Given the description of an element on the screen output the (x, y) to click on. 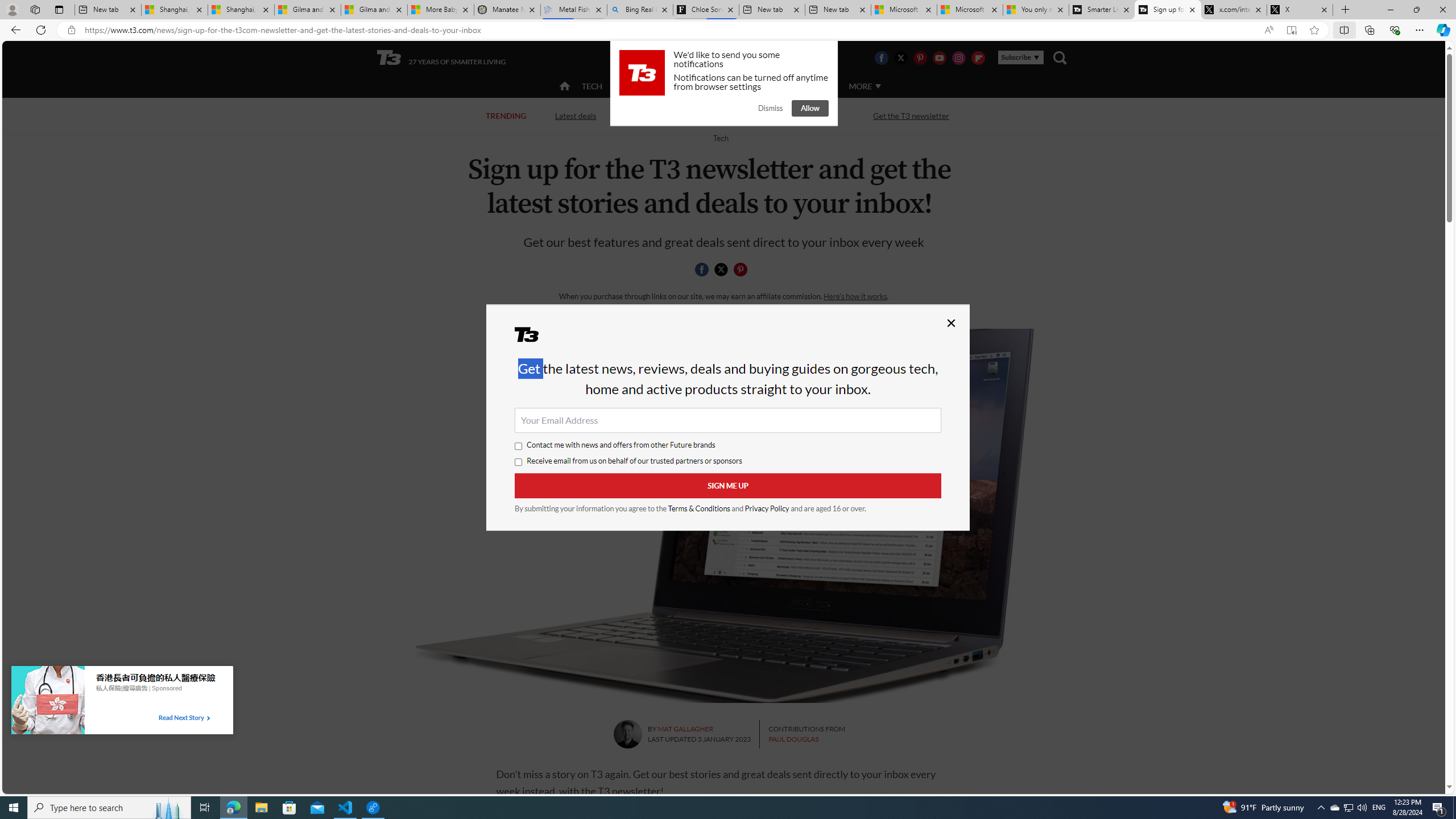
LUXURY (765, 86)
Latest deals (575, 115)
T3 27 YEARS OF SMARTER LIVING (441, 57)
Sign me up (727, 485)
AUTO (815, 86)
Privacy Policy (766, 508)
Enter Immersive Reader (F9) (1291, 29)
Image for Taboola Advertising Unit (47, 702)
Mat Gallagher (627, 734)
